Given the description of an element on the screen output the (x, y) to click on. 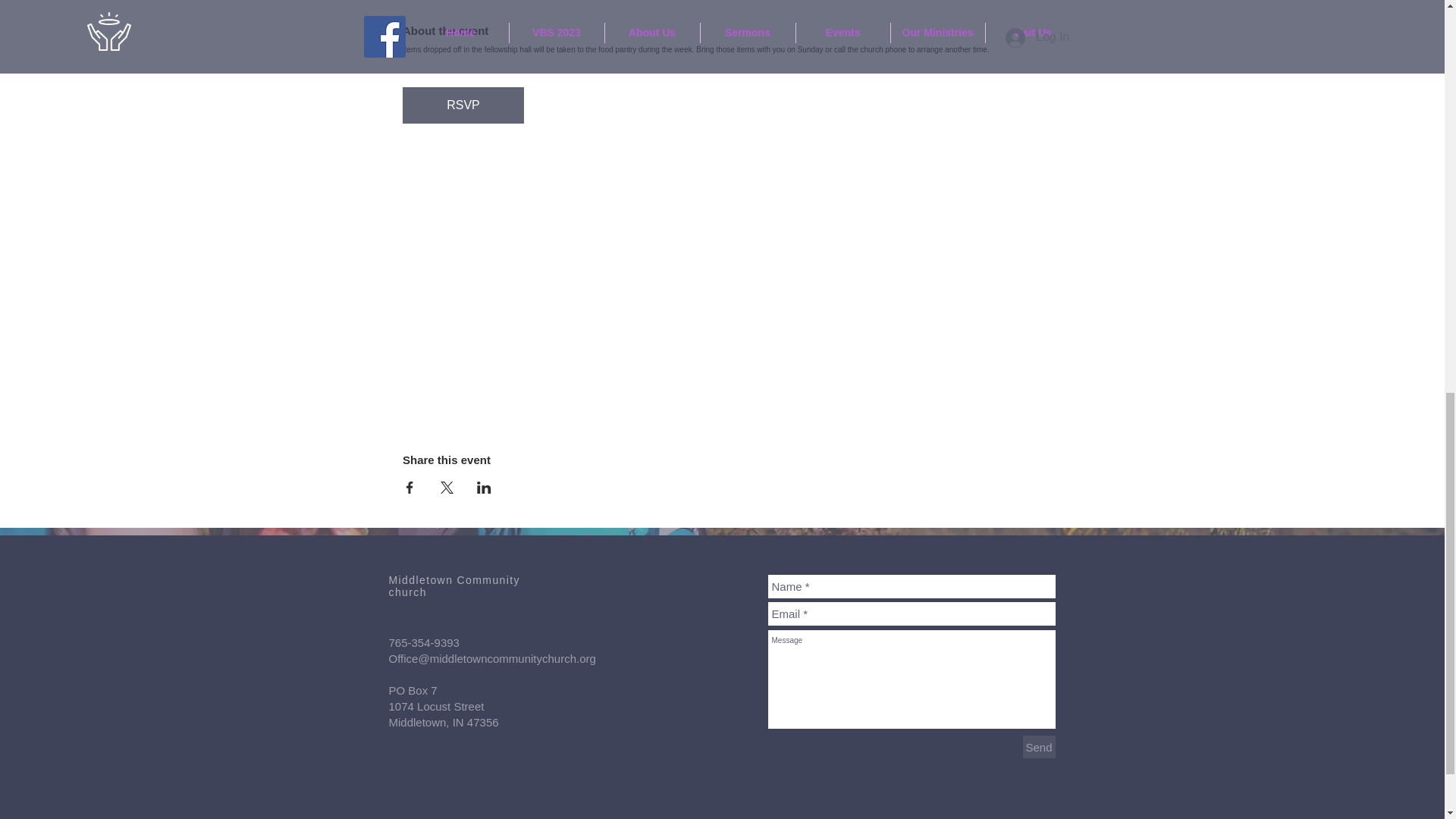
Send (1038, 746)
RSVP (463, 104)
